Given the description of an element on the screen output the (x, y) to click on. 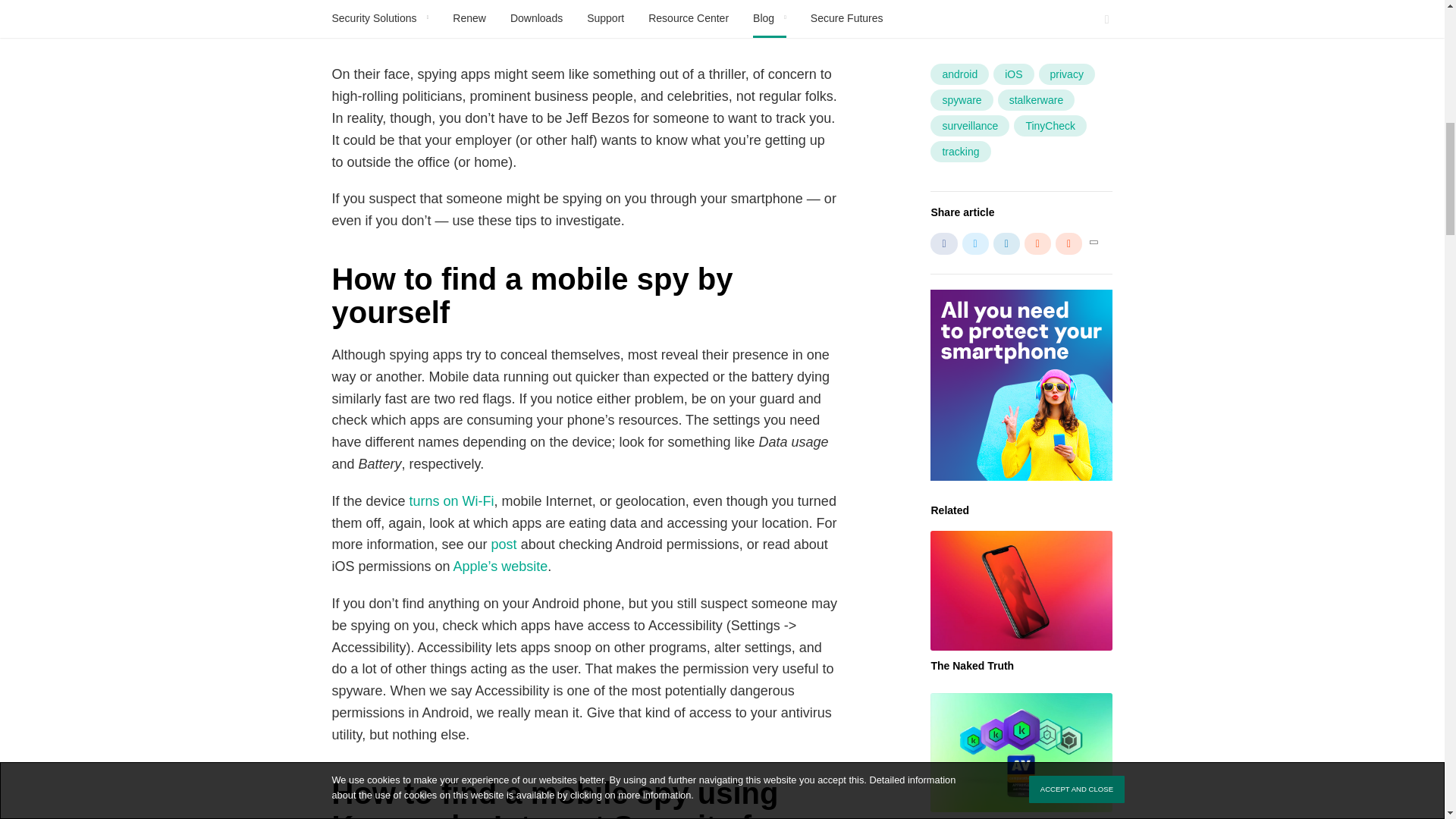
Share via Facebook (943, 243)
Share via HackerNews (1068, 243)
Share via Twitter (975, 243)
Share via Reddit (1038, 243)
Share via LinkedIn (1006, 243)
